Given the description of an element on the screen output the (x, y) to click on. 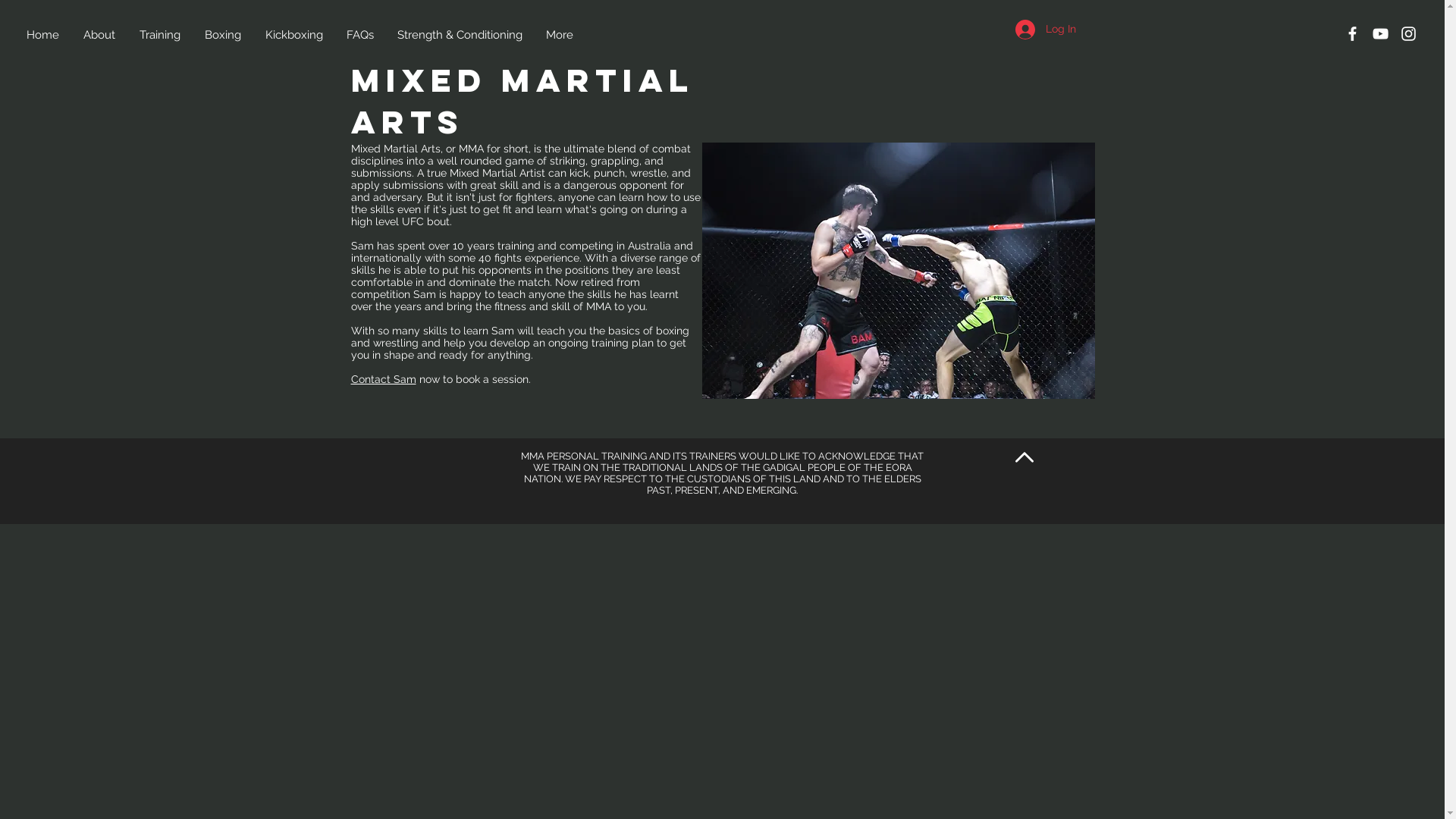
Log In Element type: text (1044, 29)
About Element type: text (100, 34)
Strength & Conditioning Element type: text (459, 34)
Training Element type: text (160, 34)
FAQs Element type: text (360, 34)
Boxing Element type: text (223, 34)
Contact Sam Element type: text (382, 379)
Home Element type: text (43, 34)
Kickboxing Element type: text (294, 34)
